Given the description of an element on the screen output the (x, y) to click on. 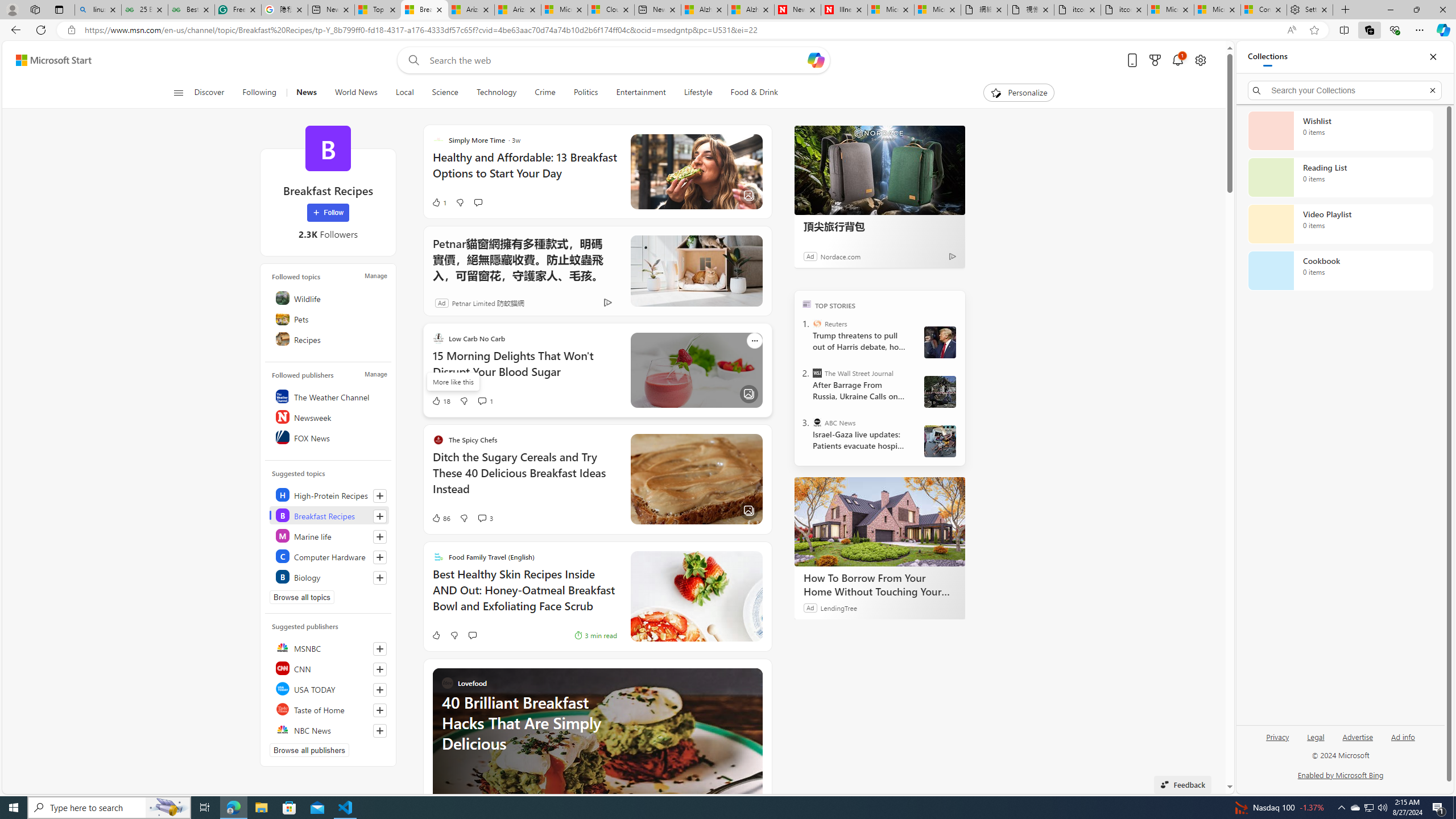
Local (404, 92)
TOP (806, 302)
Personalize (1019, 92)
Reading List collection, 0 items (1339, 177)
Microsoft Start (53, 60)
Enter your search term (617, 59)
View comments 1 Comment (481, 400)
Class: highlight (328, 576)
18 Like (440, 400)
FOX News (328, 437)
Skip to footer (46, 59)
Open settings (1199, 60)
